Given the description of an element on the screen output the (x, y) to click on. 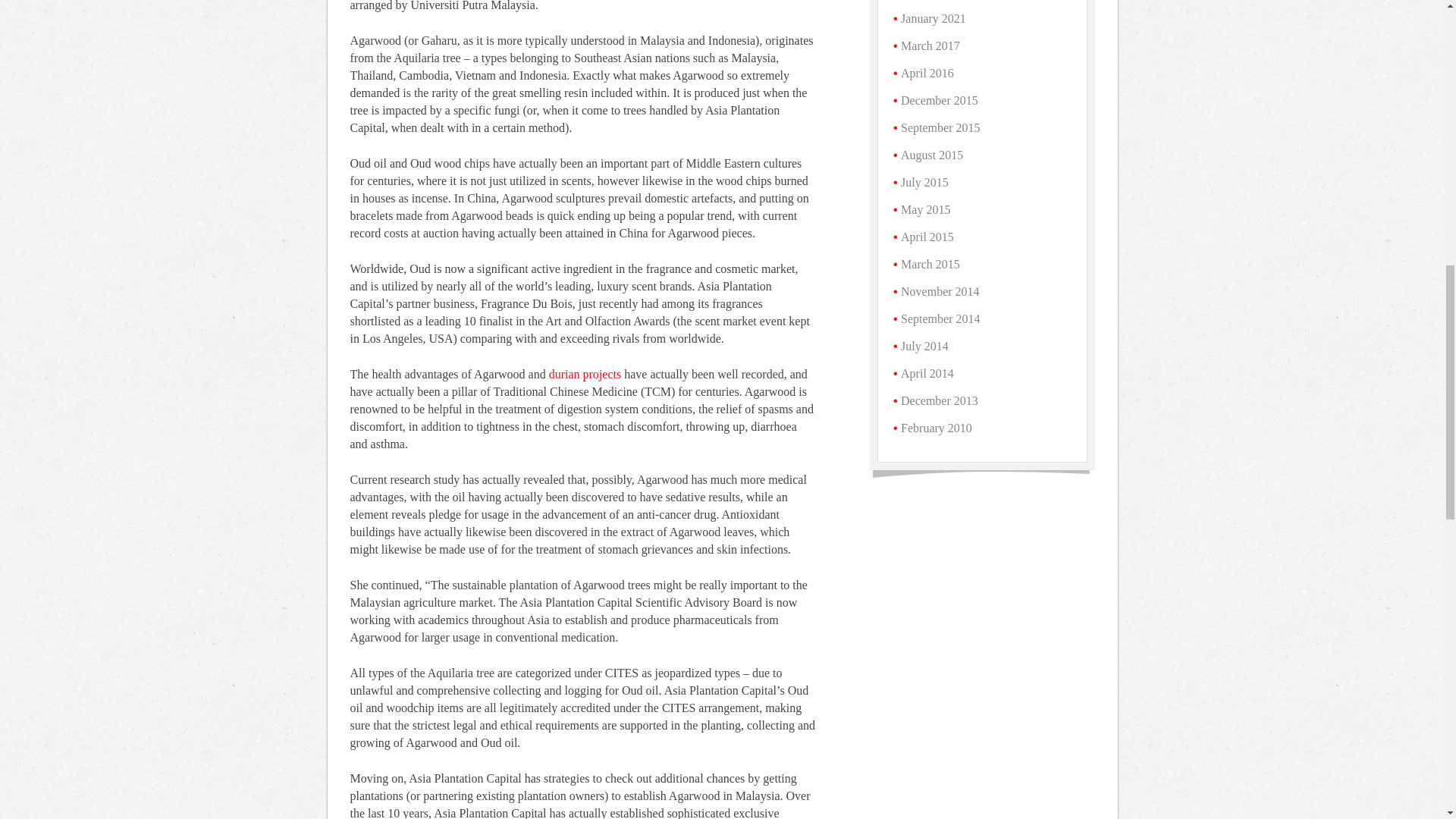
durian projects (584, 373)
